Given the description of an element on the screen output the (x, y) to click on. 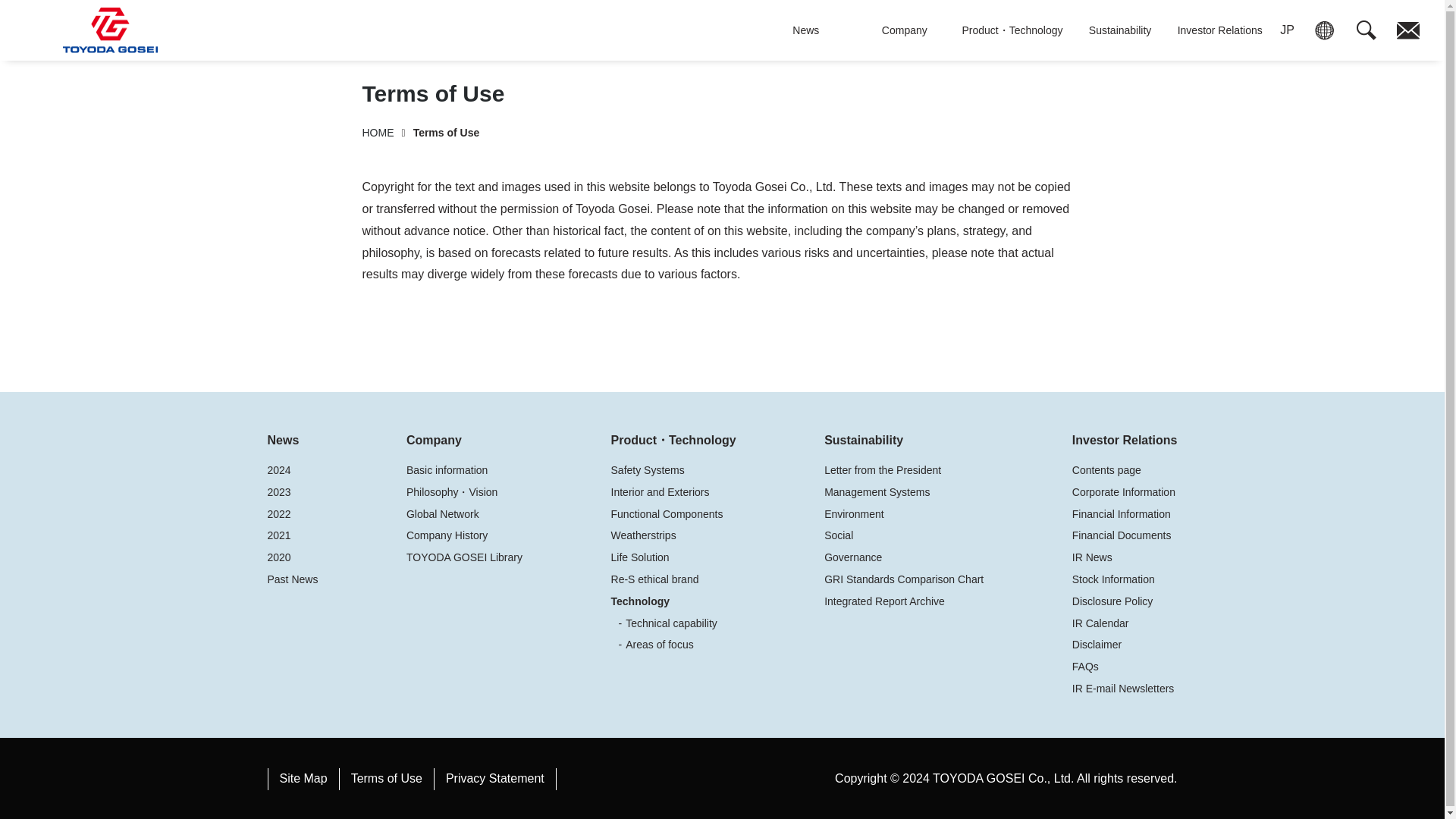
News (805, 30)
